Given the description of an element on the screen output the (x, y) to click on. 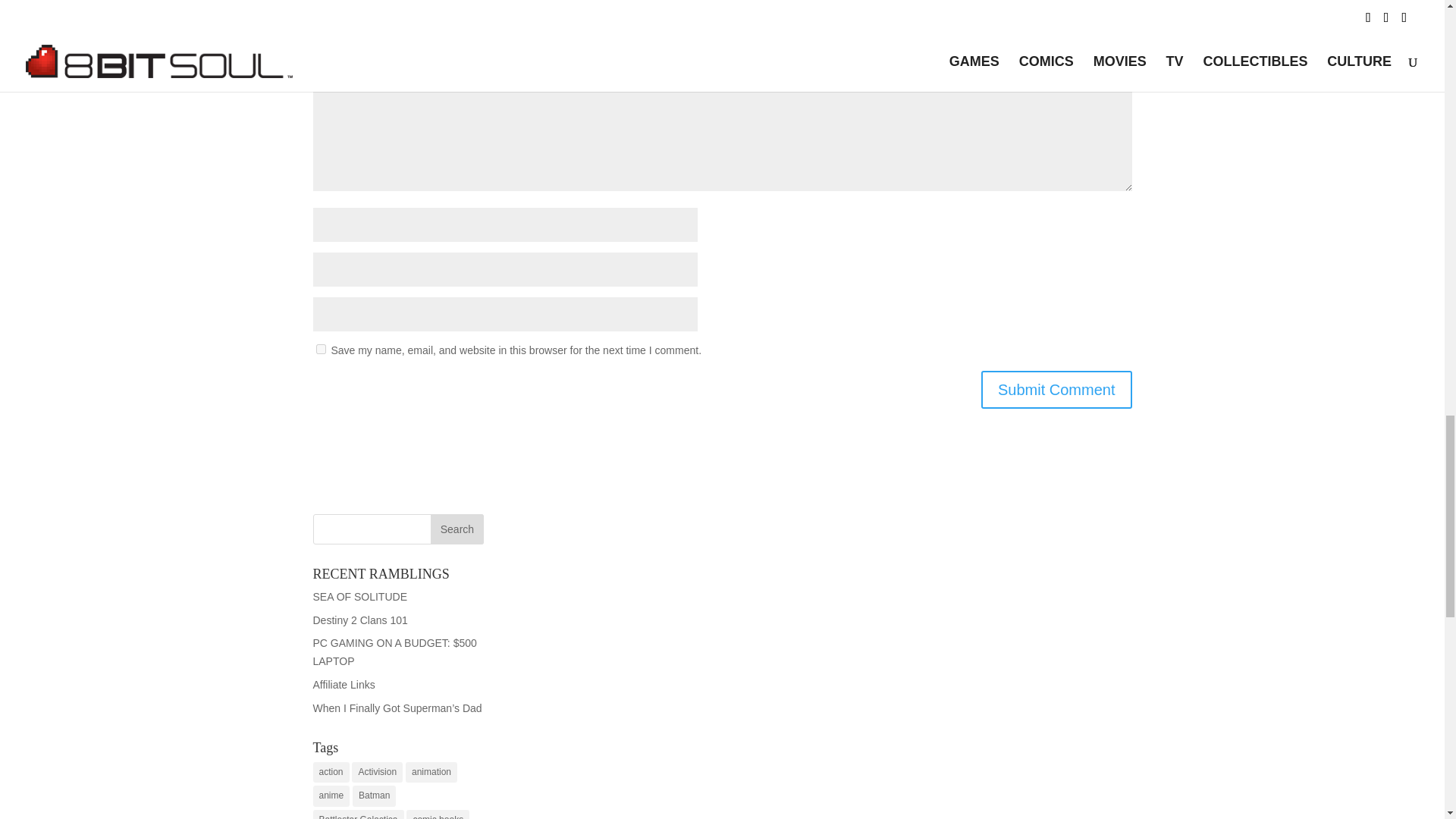
Search (456, 529)
yes (319, 348)
anime (331, 795)
Battlestar Galactica (358, 814)
SEA OF SOLITUDE (359, 596)
action (331, 772)
Affiliate Links (343, 684)
Search (456, 529)
Activision (377, 772)
Batman (374, 795)
Submit Comment (1056, 389)
animation (431, 772)
Submit Comment (1056, 389)
Destiny 2 Clans 101 (360, 620)
comic books (437, 814)
